Given the description of an element on the screen output the (x, y) to click on. 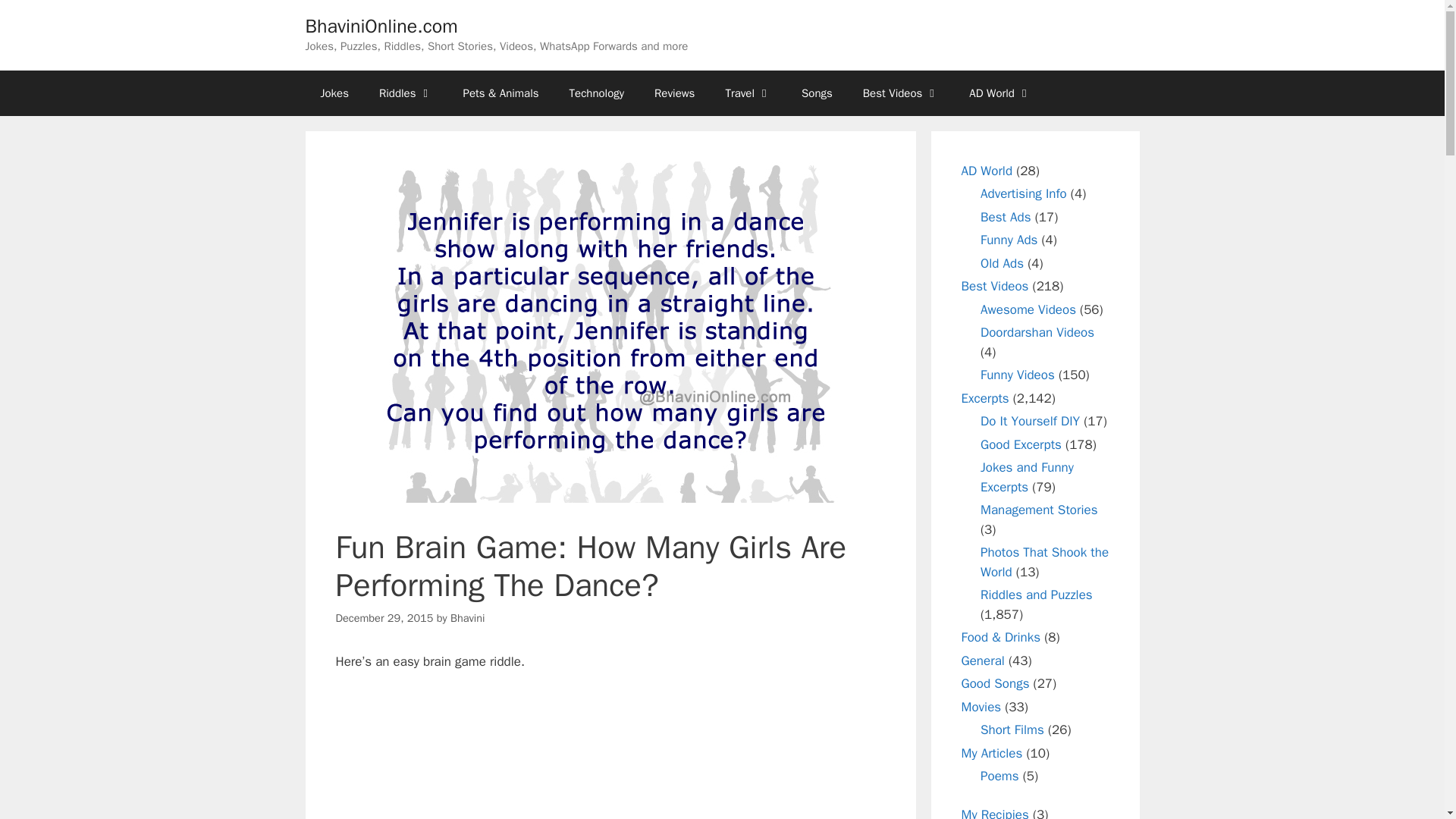
Technology (597, 92)
Best Videos (901, 92)
Bhavini (466, 617)
Songs (816, 92)
Reviews (674, 92)
Jokes (333, 92)
Advertisement (609, 755)
Travel (748, 92)
View all posts by Bhavini (466, 617)
AD World (999, 92)
